Given the description of an element on the screen output the (x, y) to click on. 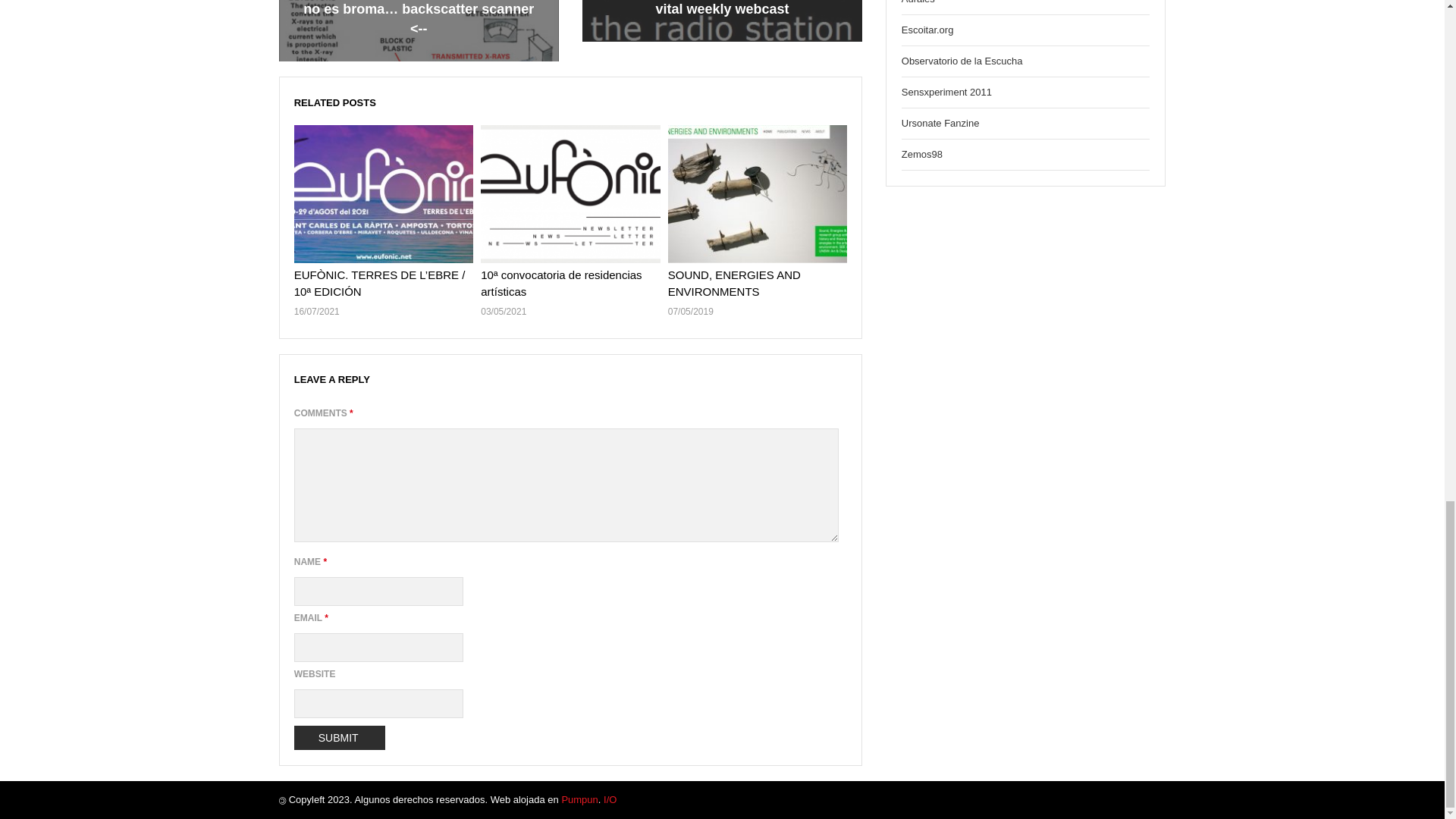
Edicion (609, 799)
vital weekly webcast (722, 8)
Submit  (339, 737)
SOUND, ENERGIES AND ENVIRONMENTS (734, 283)
SOUND, ENERGIES AND ENVIRONMENTS (734, 283)
Submit  (339, 737)
